Given the description of an element on the screen output the (x, y) to click on. 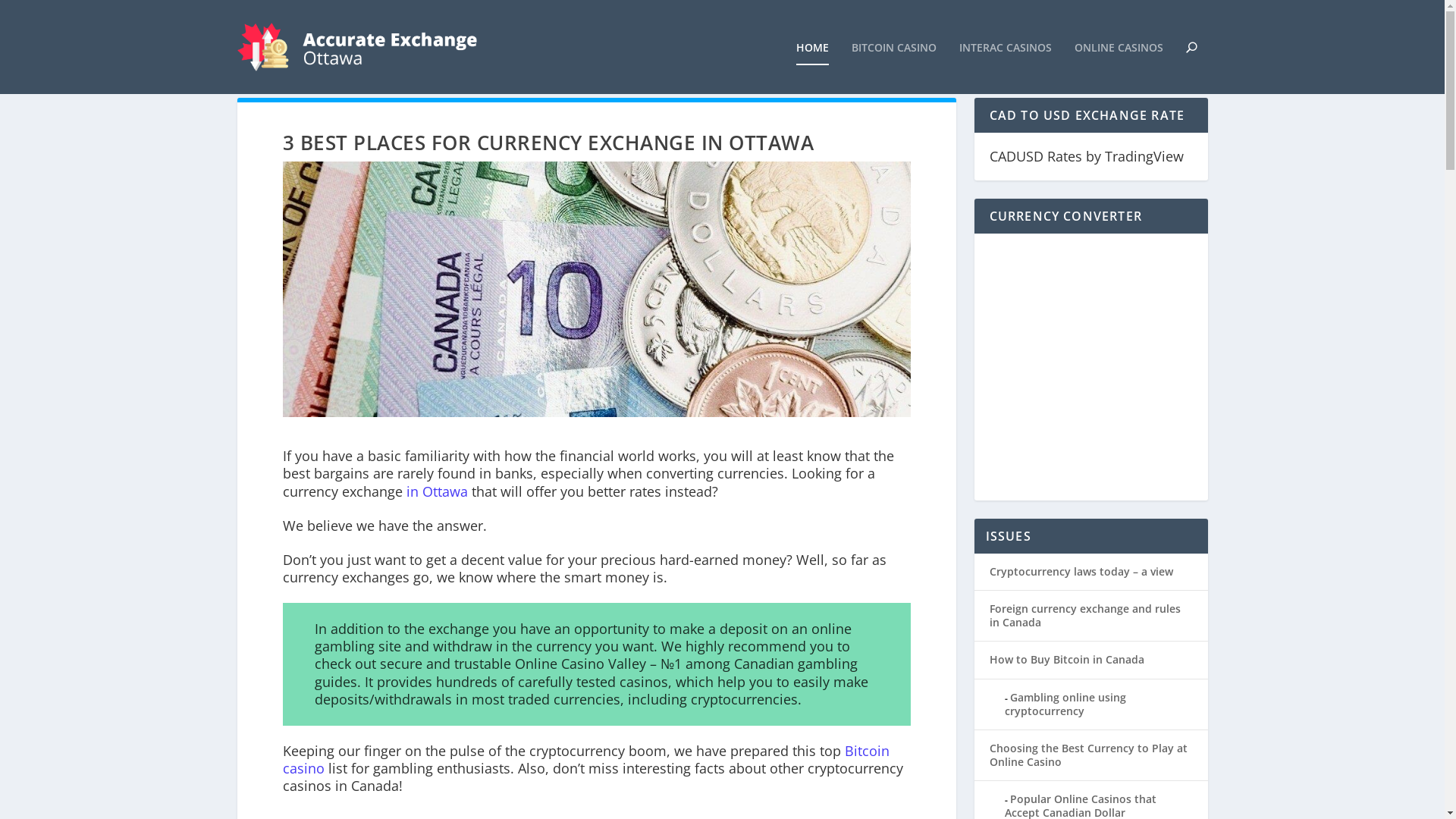
HOME Element type: text (812, 68)
Choosing the Best Currency to Play at Online Casino Element type: text (1087, 754)
How to Buy Bitcoin in Canada Element type: text (1065, 659)
BITCOIN CASINO Element type: text (892, 68)
Foreign currency exchange and rules in Canada Element type: text (1083, 615)
Gambling online using cryptocurrency Element type: text (1064, 704)
in Ottawa Element type: text (436, 491)
ONLINE CASINOS Element type: text (1117, 68)
Bitcoin casino Element type: text (585, 759)
INTERAC CASINOS Element type: text (1004, 68)
Currency Converter Widget Element type: hover (1090, 364)
